Given the description of an element on the screen output the (x, y) to click on. 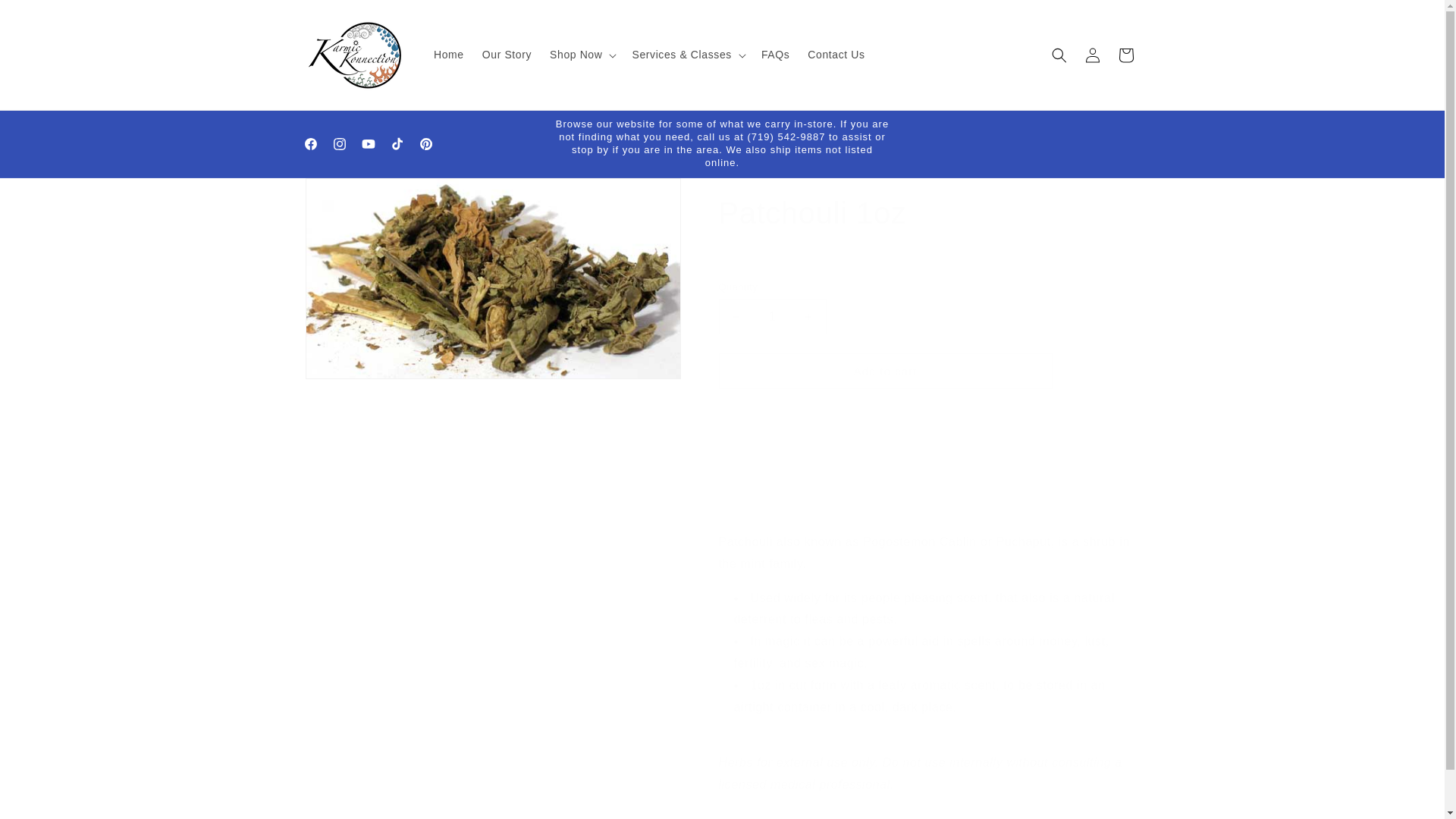
Skip to content (45, 17)
1 (773, 316)
Open media 1 in modal (491, 279)
